Given the description of an element on the screen output the (x, y) to click on. 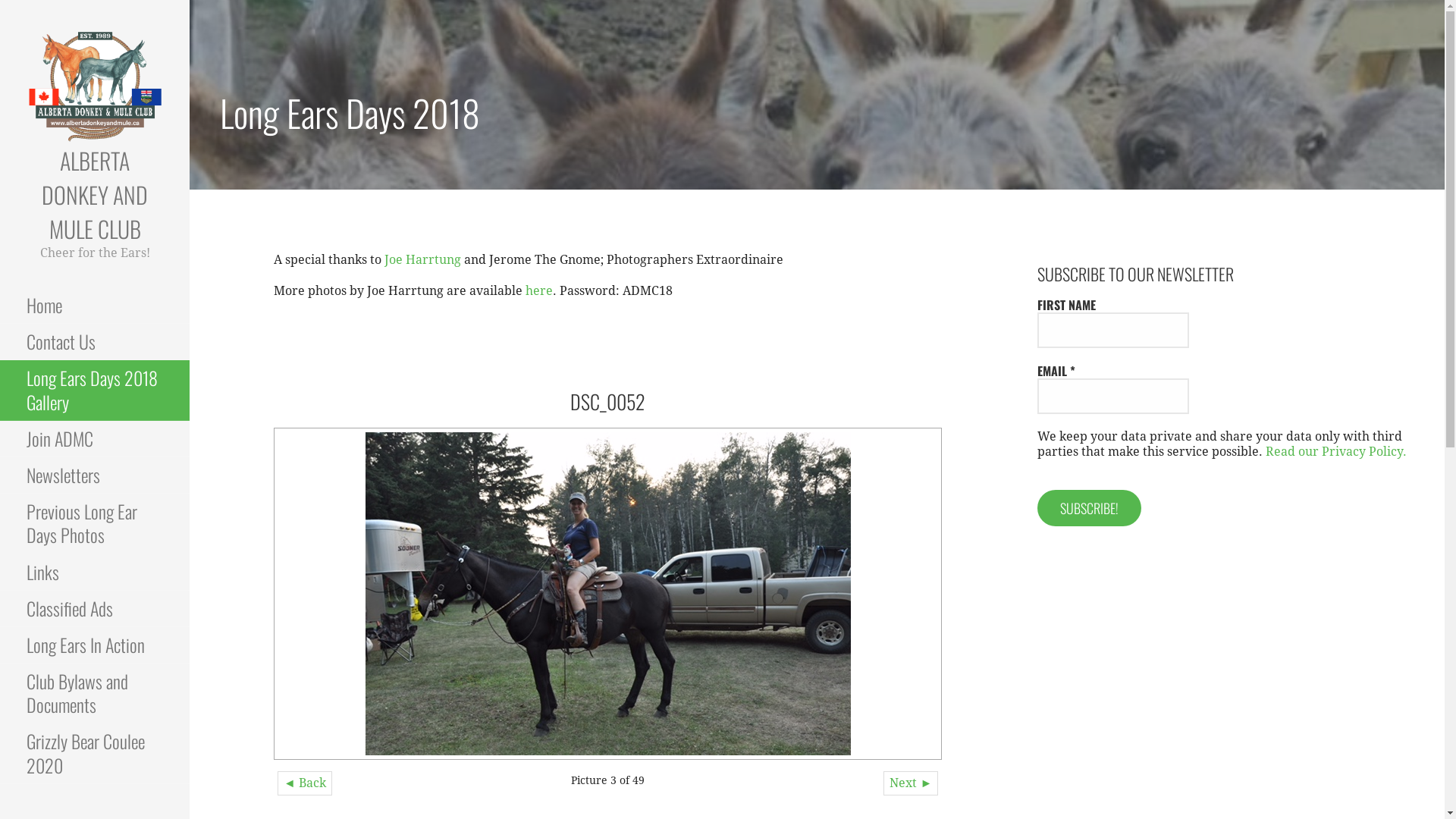
Home Element type: text (94, 305)
Read our Privacy Policy. Element type: text (1335, 451)
First name Element type: hover (1113, 330)
Classified Ads Element type: text (94, 608)
Long Ears In Action Element type: text (94, 645)
Newsletters Element type: text (94, 475)
Skip to content Element type: text (189, 0)
DSC_0052 Element type: hover (607, 593)
here Element type: text (538, 290)
Join ADMC Element type: text (94, 438)
Long Ears Days 2018 Gallery Element type: text (94, 390)
  Element type: hover (607, 593)
Links Element type: text (94, 572)
ALBERTA DONKEY AND MULE CLUB Element type: text (94, 194)
Email Element type: hover (1113, 396)
Club Bylaws and Documents Element type: text (94, 693)
Joe Harrtung  Element type: text (424, 259)
Subscribe! Element type: text (1089, 507)
Contact Us Element type: text (94, 341)
Grizzly Bear Coulee 2020 Element type: text (94, 753)
Previous Long Ear Days Photos Element type: text (94, 523)
